Given the description of an element on the screen output the (x, y) to click on. 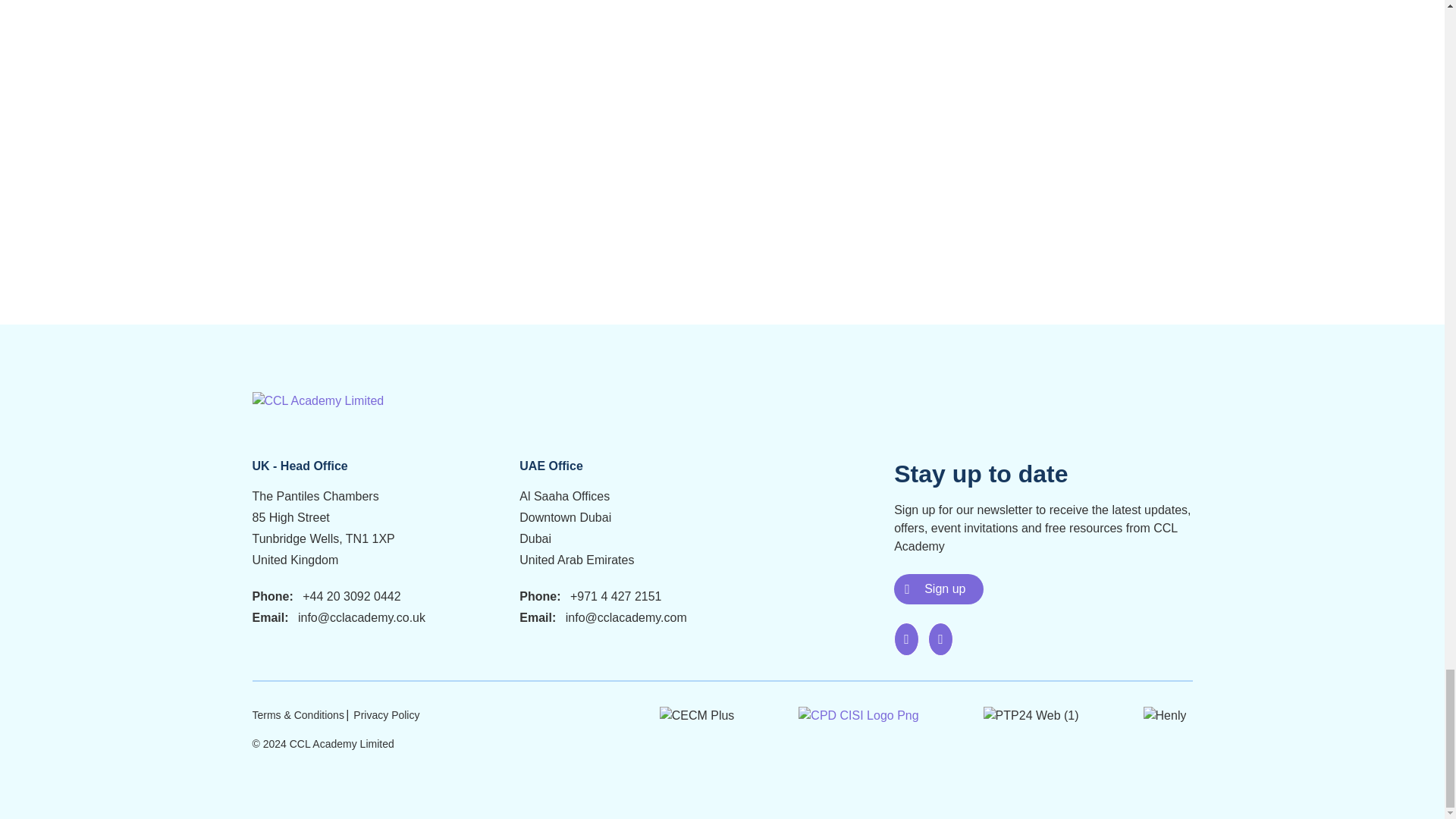
MENA (317, 400)
CISI website (857, 714)
